Given the description of an element on the screen output the (x, y) to click on. 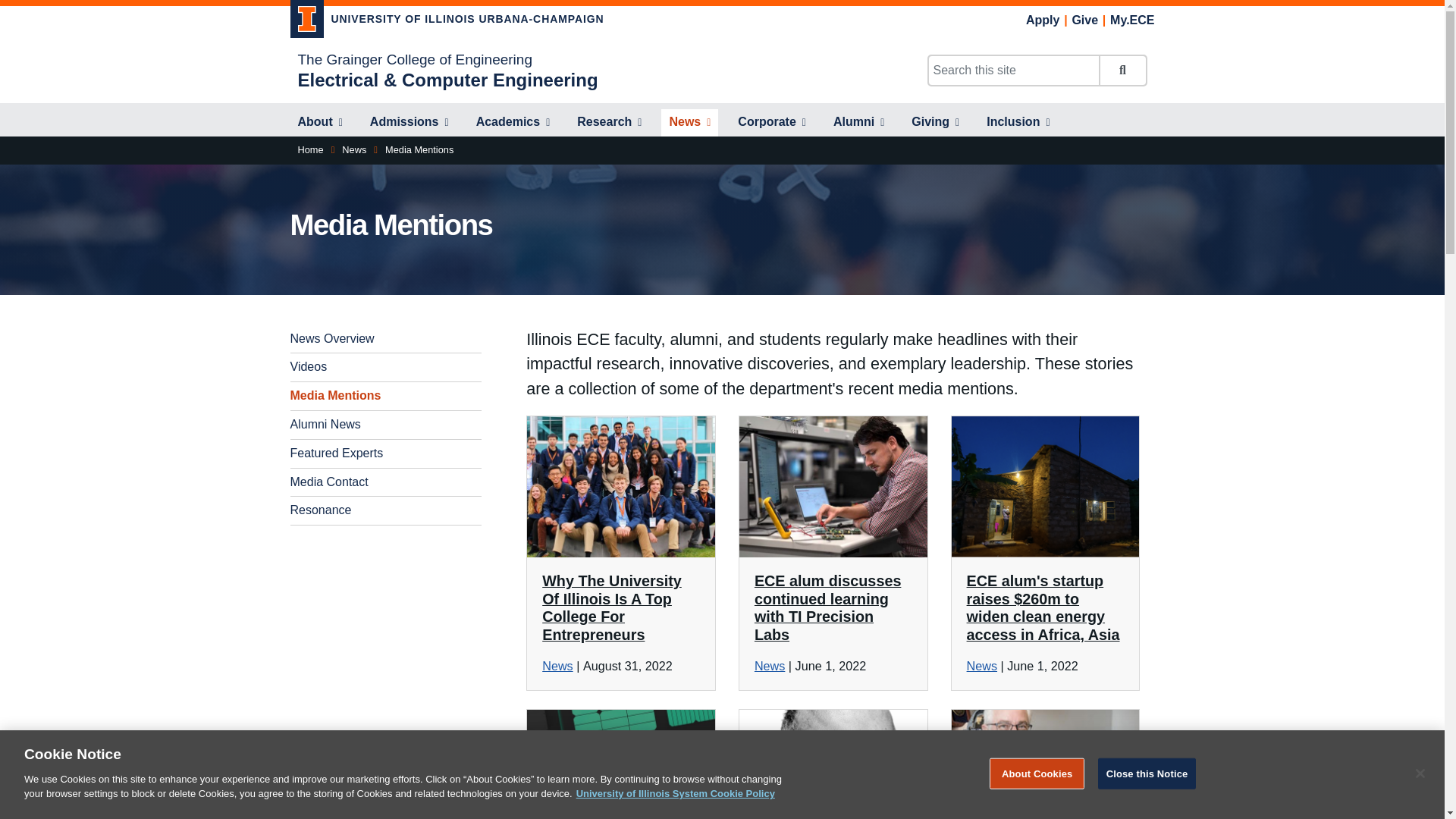
Search (1121, 70)
About (319, 122)
Give (1084, 19)
The Grainger College of Engineering (414, 59)
My.ECE (1131, 19)
UNIVERSITY OF ILLINOIS URBANA-CHAMPAIGN (446, 21)
Apply (1042, 19)
